Given the description of an element on the screen output the (x, y) to click on. 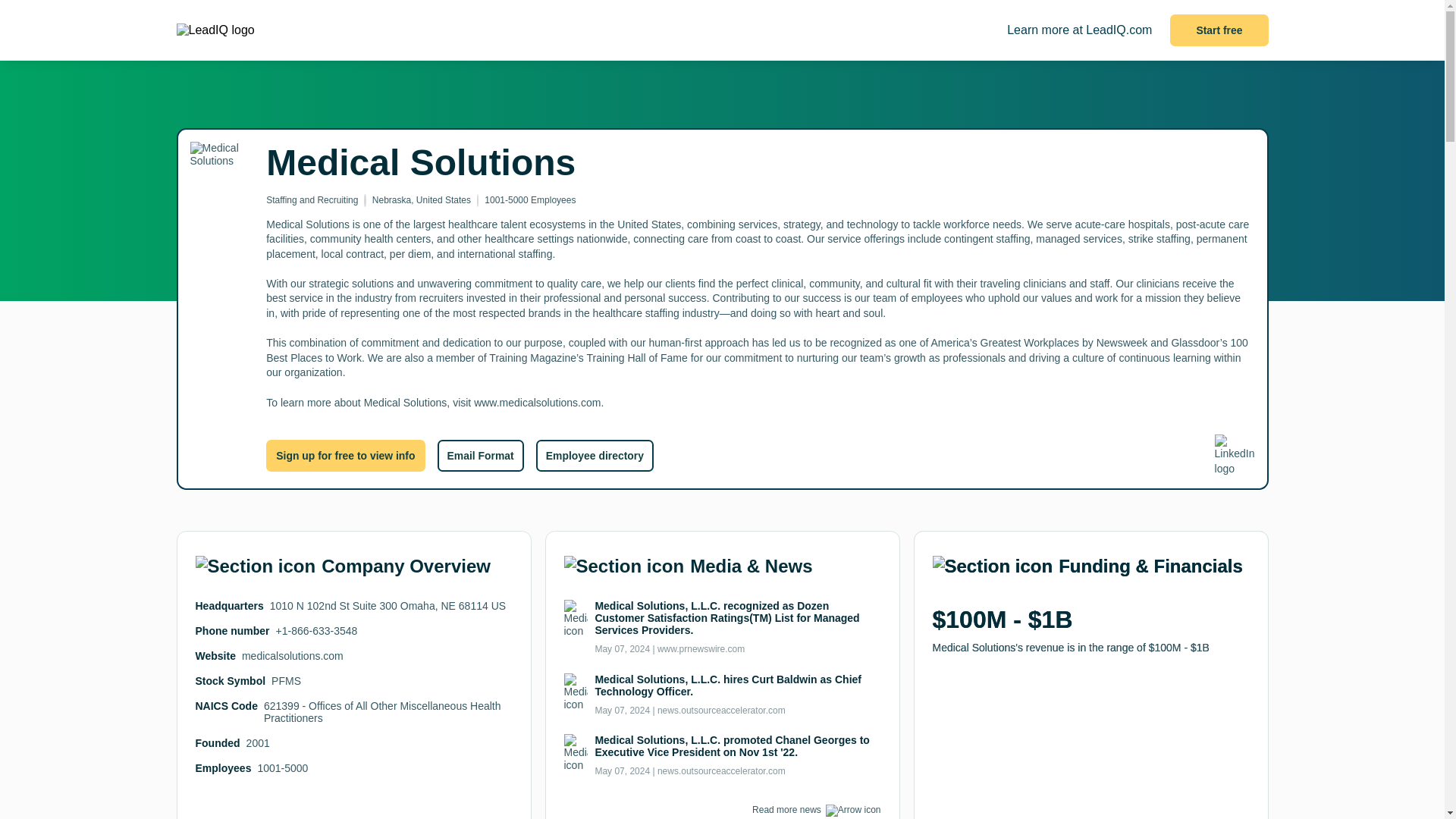
Start free (1219, 29)
Sign up for free to view info (345, 455)
Learn more at LeadIQ.com (1079, 29)
Email Format (479, 455)
